Given the description of an element on the screen output the (x, y) to click on. 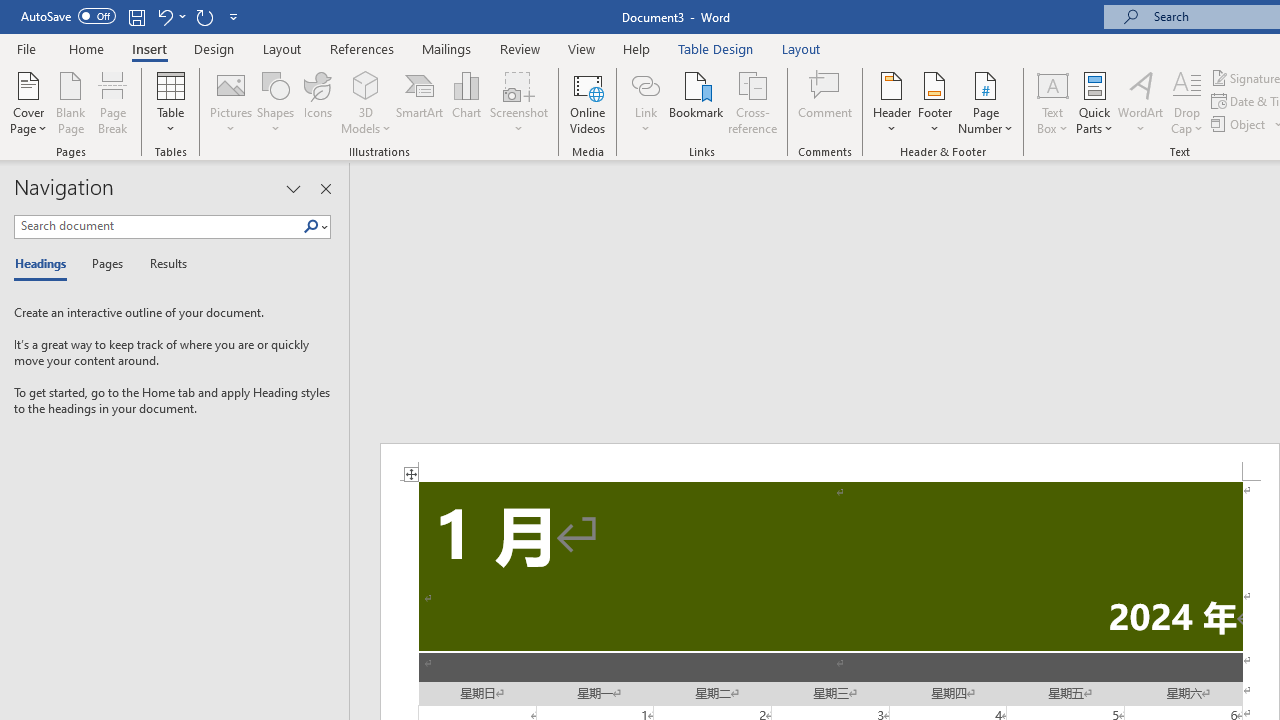
Icons (317, 102)
Header -Section 1- (830, 461)
Page Break (113, 102)
Link (645, 102)
Shapes (275, 102)
Footer (934, 102)
Page Number (986, 102)
